Given the description of an element on the screen output the (x, y) to click on. 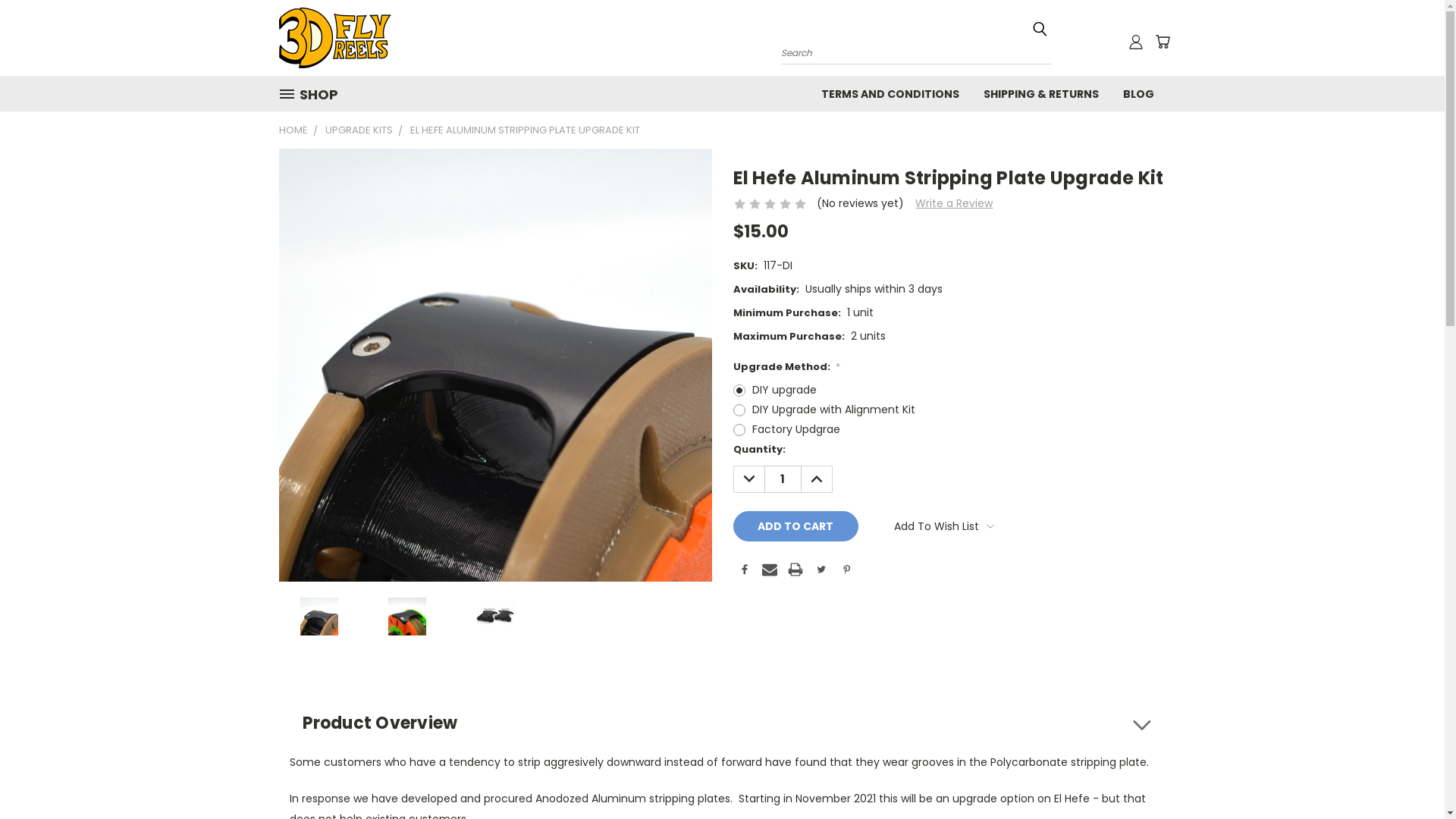
SHOP Element type: text (314, 94)
3D Fly Reels Element type: hover (335, 37)
SHIPPING & RETURNS Element type: text (1040, 92)
INCREASE QUANTITY: Element type: text (815, 478)
HOME Element type: text (293, 129)
El Hefe Aluminum Stripping Plate Upgrade Kit Element type: hover (495, 615)
DECREASE QUANTITY: Element type: text (747, 478)
UPGRADE KITS Element type: text (358, 129)
El Hefe Aluminum Stripping Plate Upgrade Kit Element type: hover (319, 615)
Add To Wish List Element type: text (943, 525)
TERMS AND CONDITIONS Element type: text (889, 92)
El Hefe Aluminum Stripping Plate Upgrade Kit Element type: hover (495, 364)
BLOG Element type: text (1137, 92)
El Hefe Aluminum Stripping Plate Upgrade Kit Element type: hover (407, 615)
User Toolbox Element type: hover (1135, 41)
Submit Search Element type: hover (1039, 28)
Add to Cart Element type: text (795, 526)
Write a Review Element type: text (953, 202)
